Given the description of an element on the screen output the (x, y) to click on. 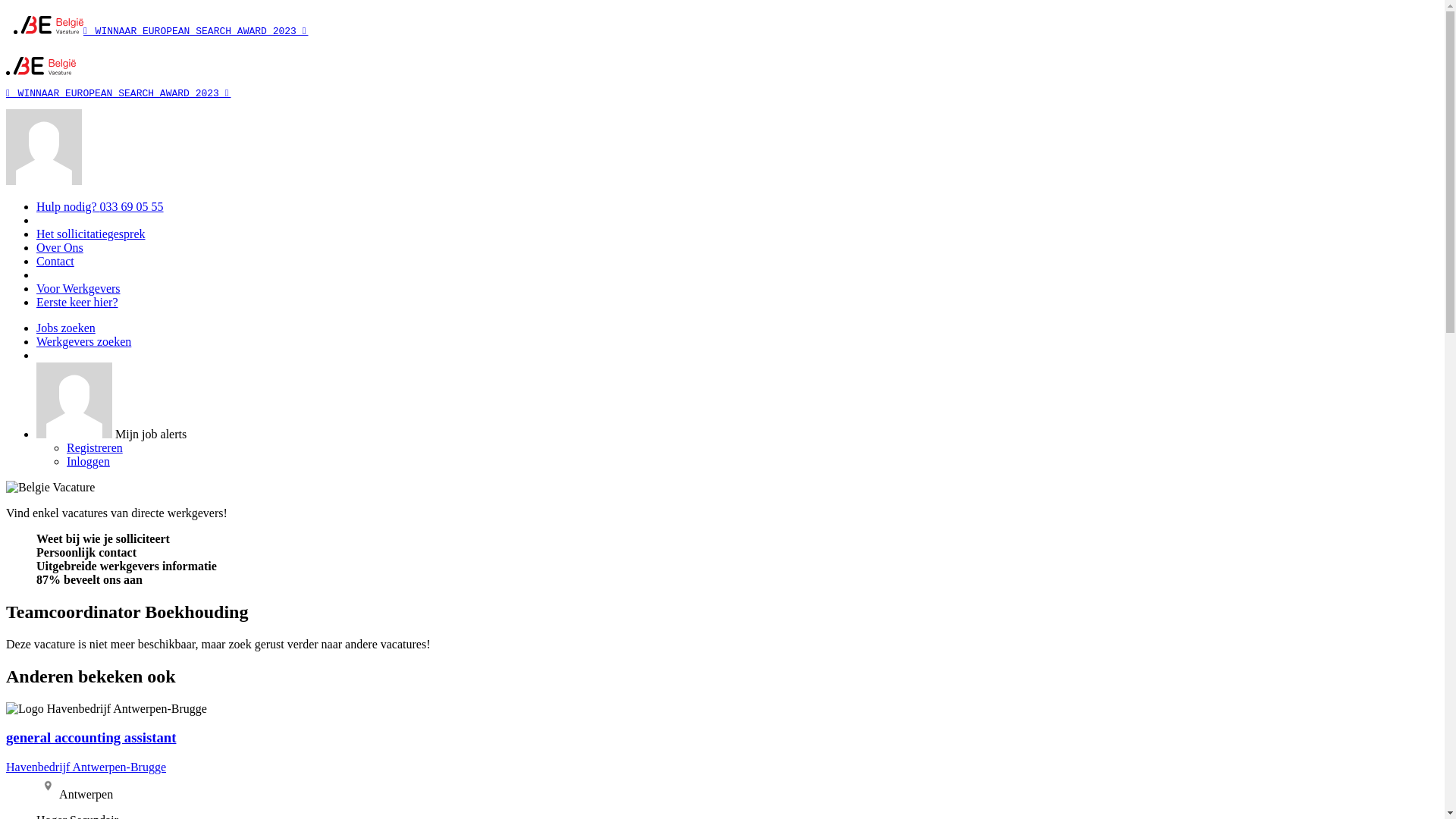
Contact Element type: text (55, 260)
Werkgevers zoeken Element type: text (83, 341)
belgievacature.be Element type: hover (40, 70)
Over Ons Element type: text (59, 247)
general accounting assistant Element type: text (90, 737)
Havenbedrijf Antwerpen-Brugge Element type: hover (106, 708)
Registreren Element type: text (94, 447)
Jobs zoeken Element type: text (65, 327)
Eerste keer hier? Element type: text (76, 301)
Hulp nodig? 033 69 05 55 Element type: text (99, 206)
Inloggen Element type: text (87, 461)
Het sollicitatiegesprek Element type: text (90, 233)
Havenbedrijf Antwerpen-Brugge Element type: text (86, 766)
Voor Werkgevers Element type: text (78, 288)
Locatie Element type: hover (48, 786)
